Given the description of an element on the screen output the (x, y) to click on. 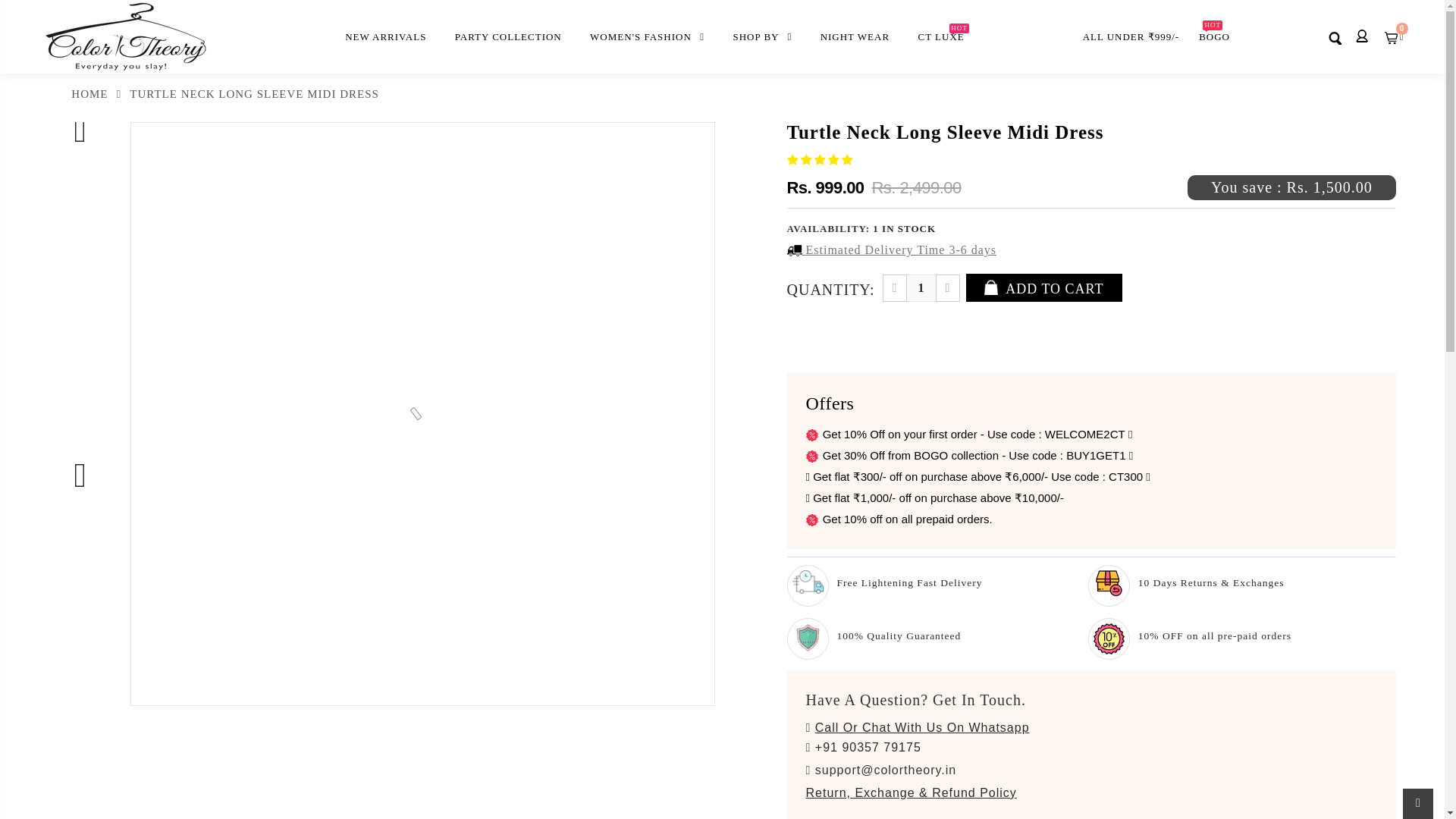
NEW ARRIVALS (384, 35)
1 (920, 288)
Back to the frontpage (77, 93)
WOMEN'S FASHION (646, 35)
My Account (1362, 39)
SHOP BY (761, 35)
PARTY COLLECTION (507, 35)
